Given the description of an element on the screen output the (x, y) to click on. 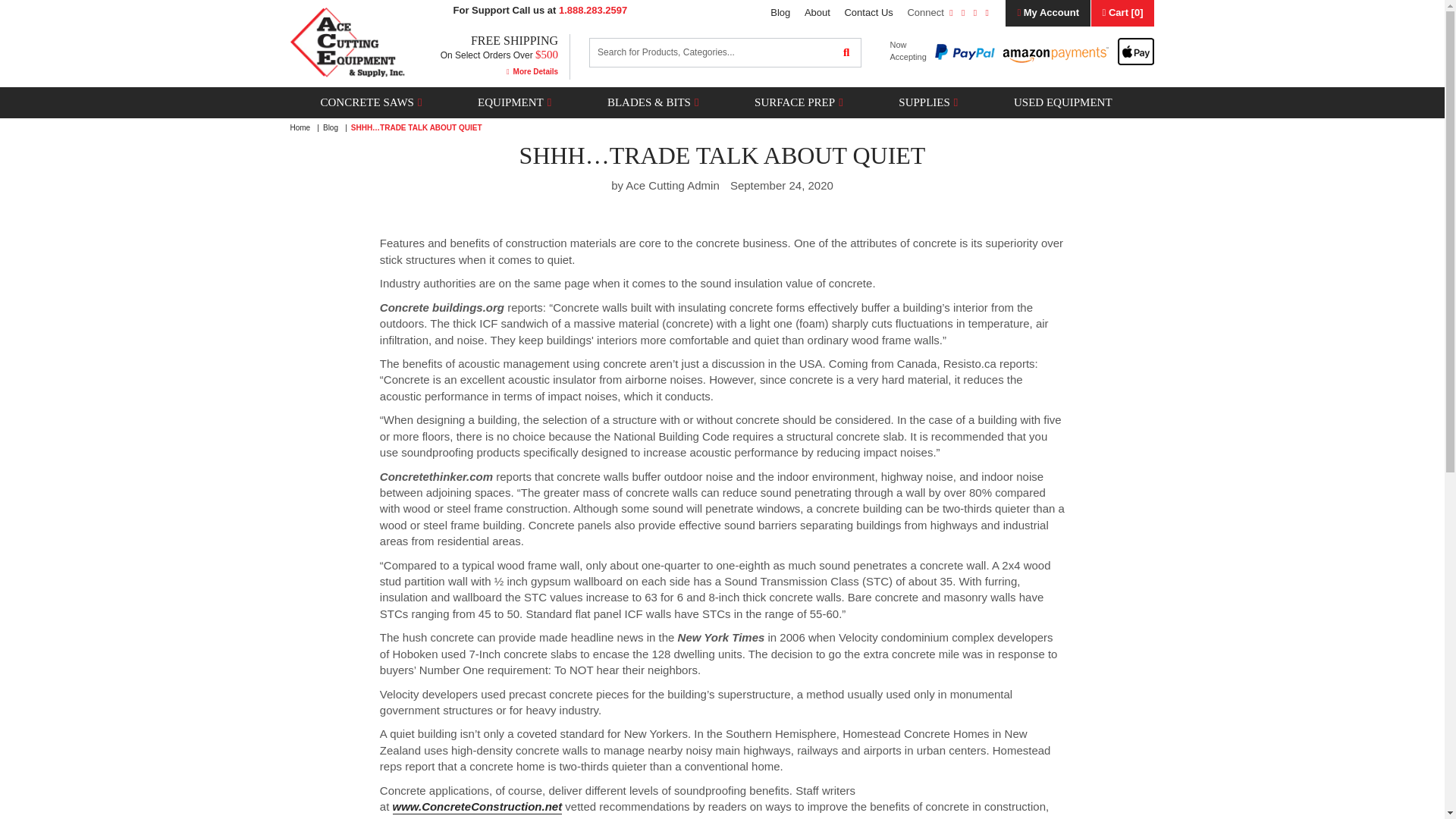
Home (299, 127)
My Account (1048, 13)
About (817, 12)
Contact Us (868, 12)
Blog (780, 12)
CONCRETE SAWS (366, 101)
1.888.283.2597 (593, 9)
More Details (531, 71)
